Given the description of an element on the screen output the (x, y) to click on. 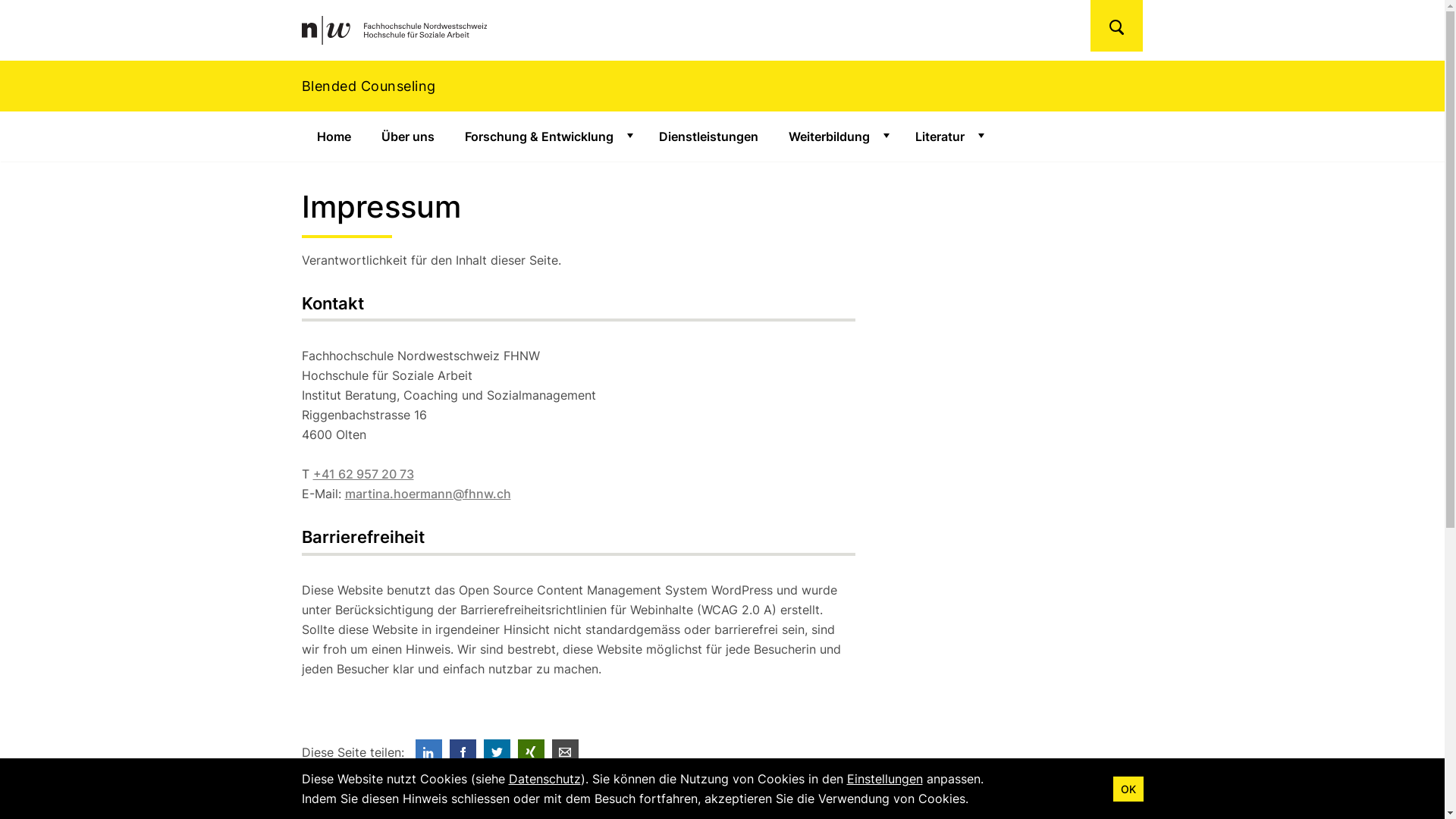
Auf LinkedIn teilen Element type: text (428, 752)
Home Element type: text (333, 136)
Auf Twitter teilen Element type: text (496, 752)
Dienstleistungen Element type: text (707, 136)
Einstellungen Element type: text (884, 778)
Datenschutz Element type: text (544, 778)
Suchen Element type: text (1116, 25)
Blended Counseling Element type: text (722, 86)
+41 62 957 20 73 Element type: text (362, 473)
martina.hoermann@fhnw.ch Element type: text (427, 493)
OK Element type: text (1128, 788)
Auf Xing teilen Element type: text (530, 752)
Via E-Mail teilen Element type: text (565, 752)
Auf Facebook teilen Element type: text (461, 752)
